Given the description of an element on the screen output the (x, y) to click on. 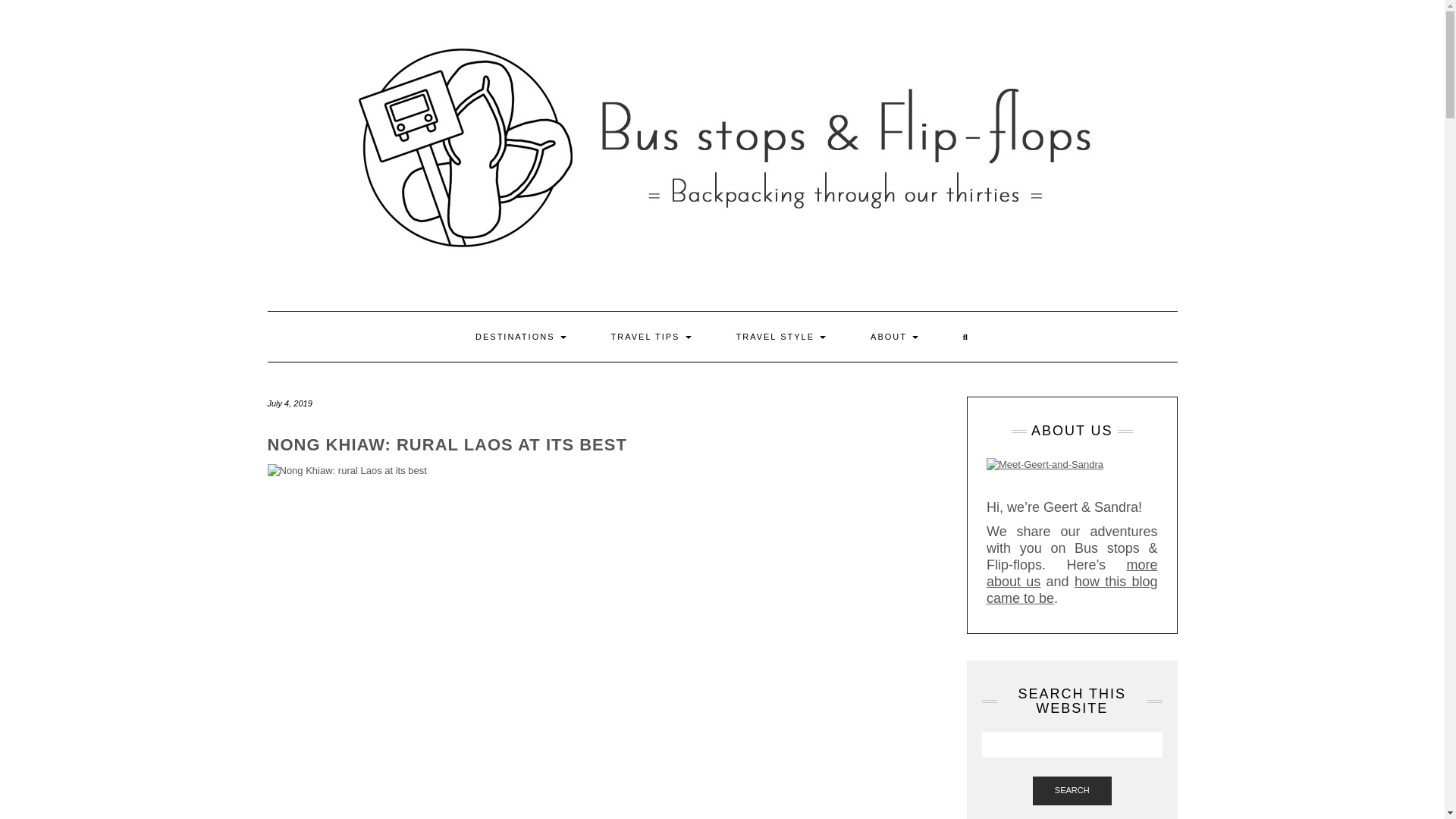
TRAVEL TIPS (651, 336)
DESTINATIONS (520, 336)
ABOUT (894, 336)
TRAVEL STYLE (781, 336)
